Given the description of an element on the screen output the (x, y) to click on. 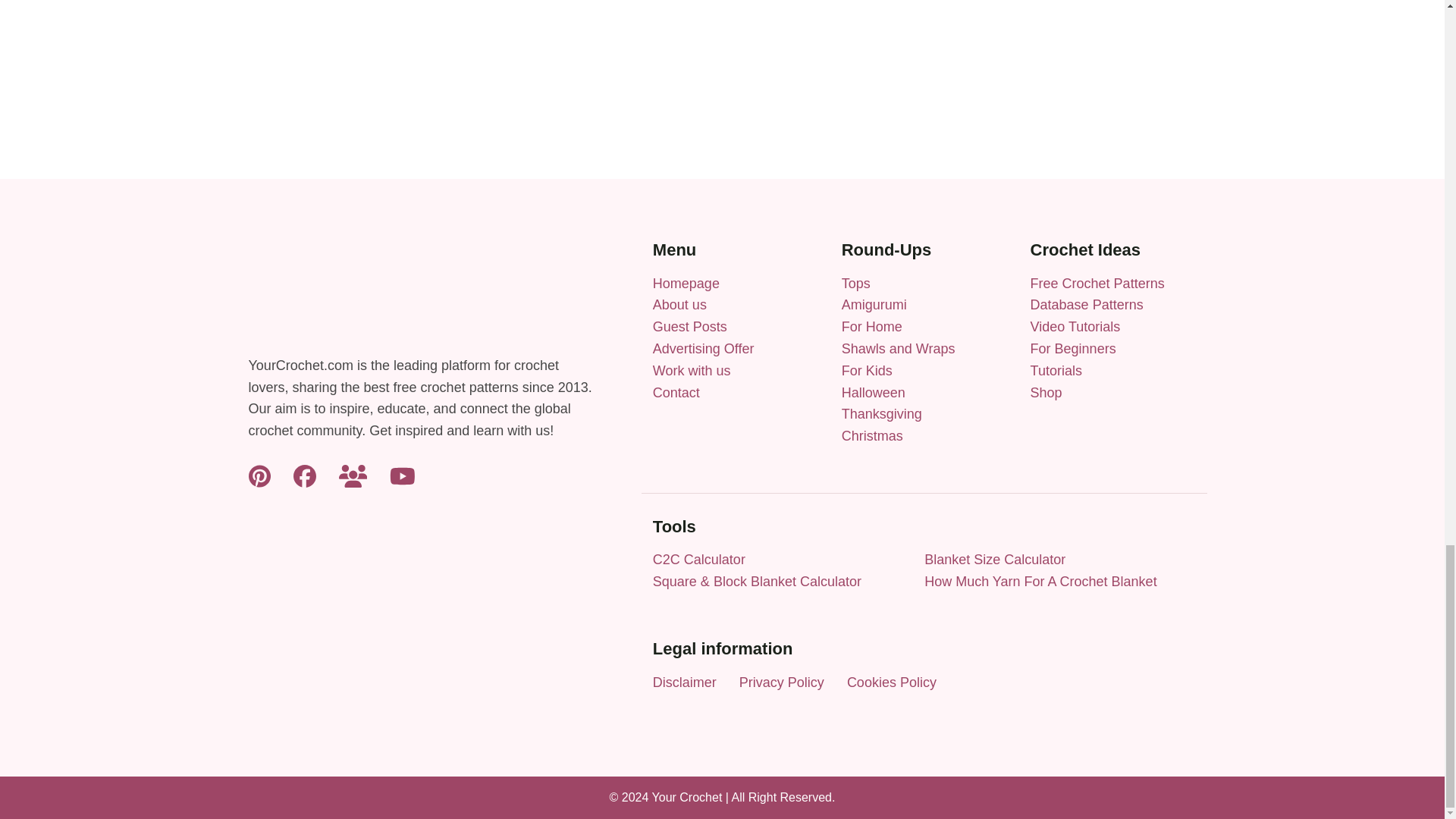
Round-Up Shawls and Wraps (898, 348)
Round-Up Halloween (873, 391)
Round-Up Tops (855, 283)
Your Crochet (685, 283)
Pinterest YourCrochet (259, 475)
Round-Up For Home (871, 326)
Work with us (691, 370)
Facebook Group YourCrochet (353, 475)
Advertising Offer (703, 348)
Contact (676, 391)
